Given the description of an element on the screen output the (x, y) to click on. 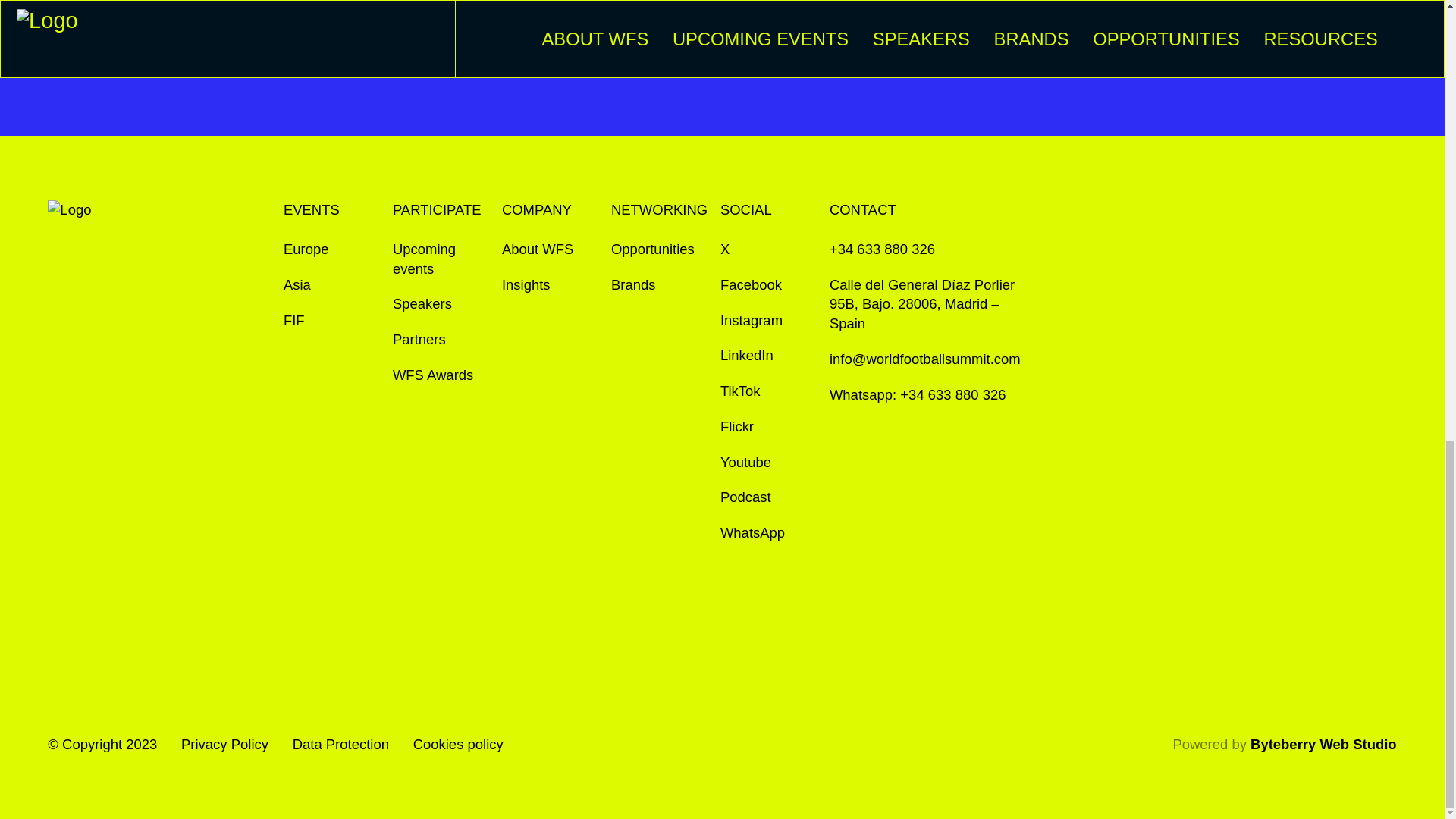
Brands (633, 284)
FIF (293, 320)
WhatsApp (752, 532)
Asia (297, 284)
Partners (419, 339)
Instagram (751, 320)
Speakers (422, 303)
Europe (306, 249)
TikTok (740, 391)
Upcoming events (441, 258)
Opportunities (652, 249)
Flickr (737, 426)
WFS Awards (433, 374)
Facebook (750, 284)
LinkedIn (746, 355)
